Given the description of an element on the screen output the (x, y) to click on. 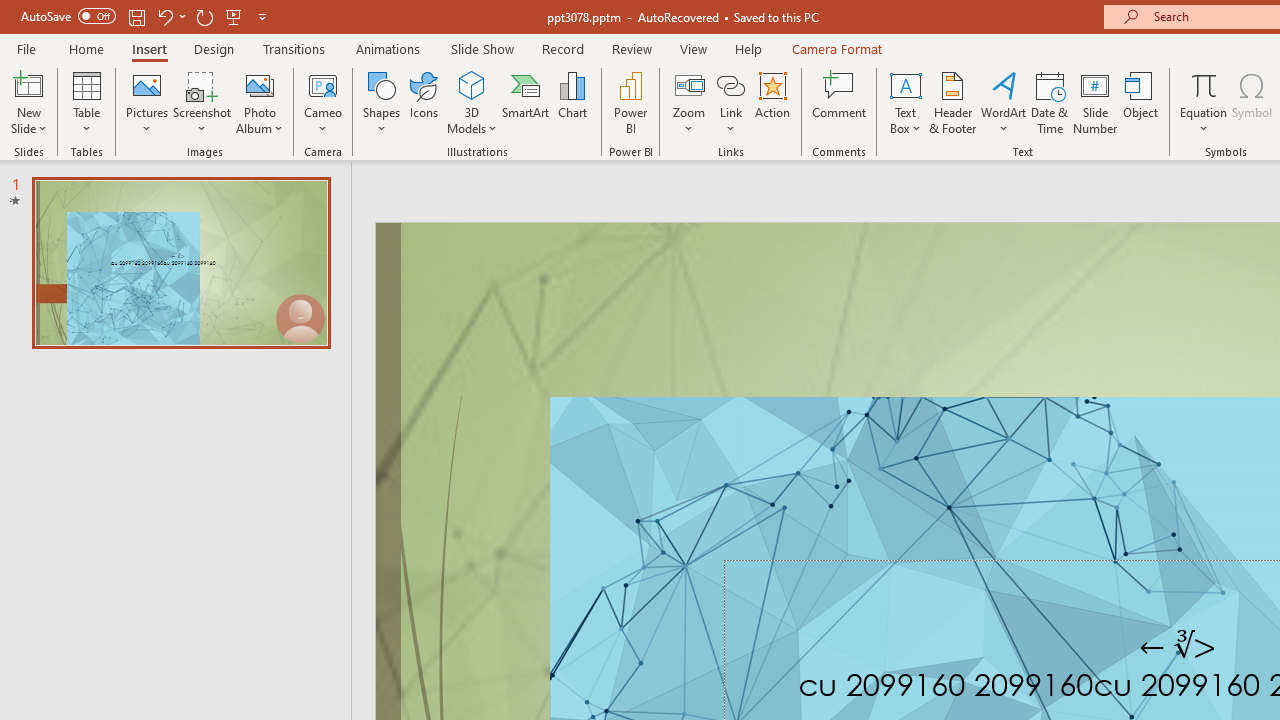
WordArt (1004, 102)
Link (731, 84)
Object... (1141, 102)
3D Models (472, 84)
SmartArt... (525, 102)
Header & Footer... (952, 102)
